Given the description of an element on the screen output the (x, y) to click on. 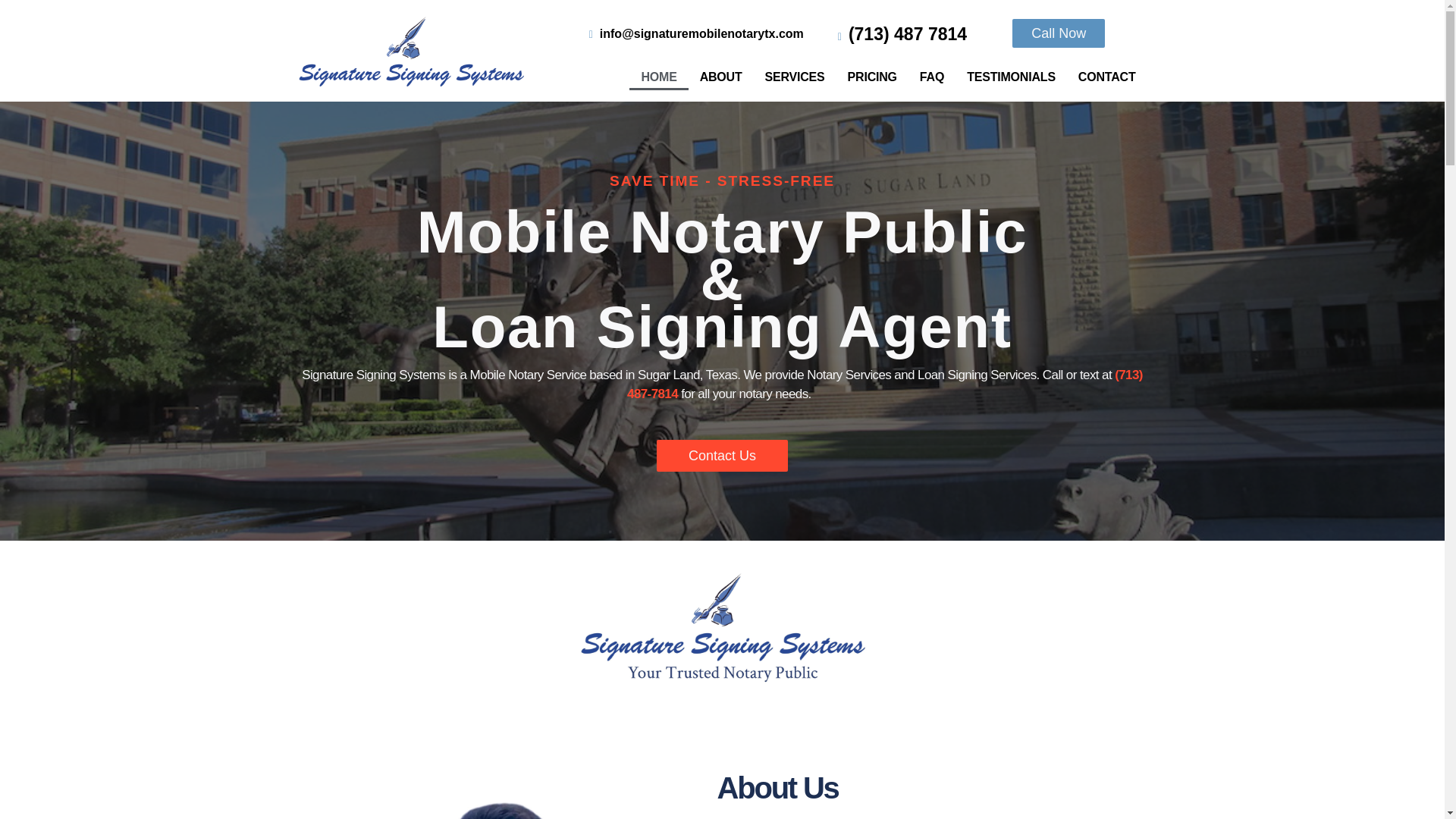
PRICING (871, 77)
ABOUT (721, 77)
Call Now (1058, 32)
Contact Us (721, 455)
FAQ (931, 77)
SERVICES (794, 77)
CONTACT (1107, 77)
HOME (657, 77)
TESTIMONIALS (1011, 77)
